Given the description of an element on the screen output the (x, y) to click on. 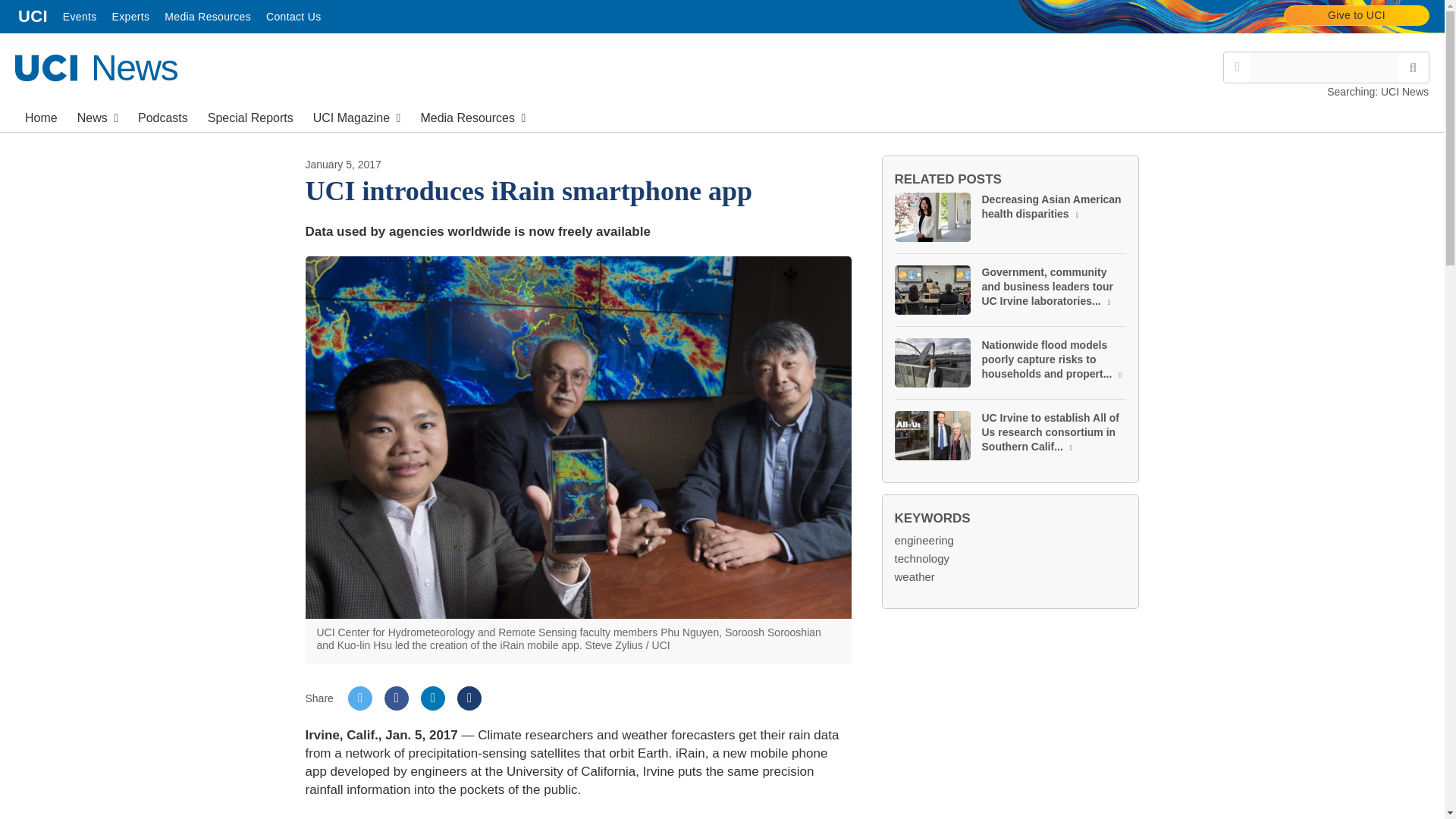
Experts (95, 67)
News (130, 16)
Select search type (97, 116)
Events (1237, 66)
Podcasts (79, 16)
UCI (163, 116)
Contact Us (32, 16)
UCI Magazine (293, 16)
Special Reports (356, 116)
UCI (250, 116)
Search (1356, 14)
Experts (32, 16)
Media Resources (1412, 67)
